Given the description of an element on the screen output the (x, y) to click on. 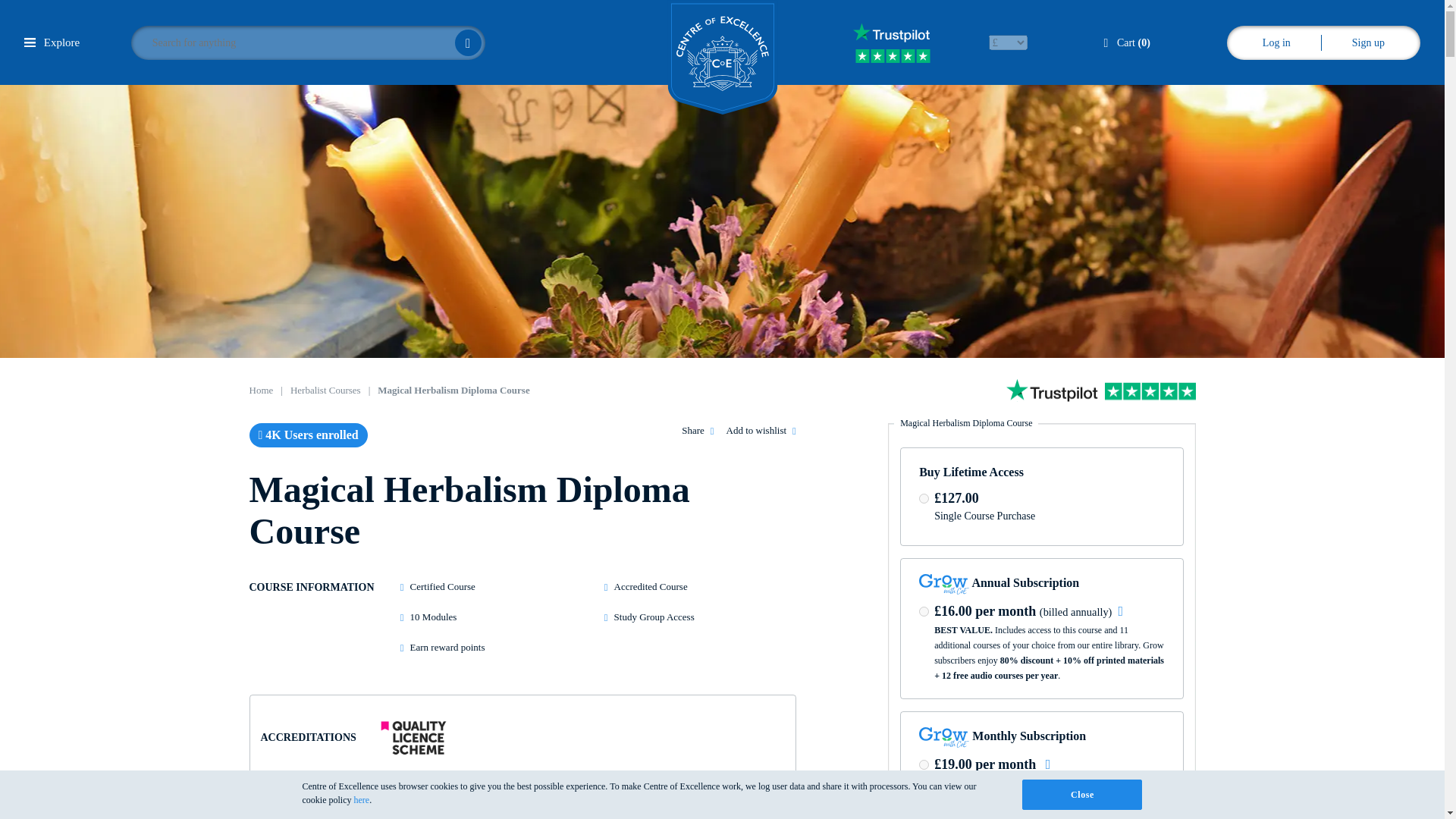
Log in (1275, 42)
Herbalist Courses (325, 390)
Explore (52, 41)
Magical Herbalism Diploma Course (453, 390)
Sign up (1367, 42)
Centre of Excellence (721, 57)
Home (260, 390)
